Given the description of an element on the screen output the (x, y) to click on. 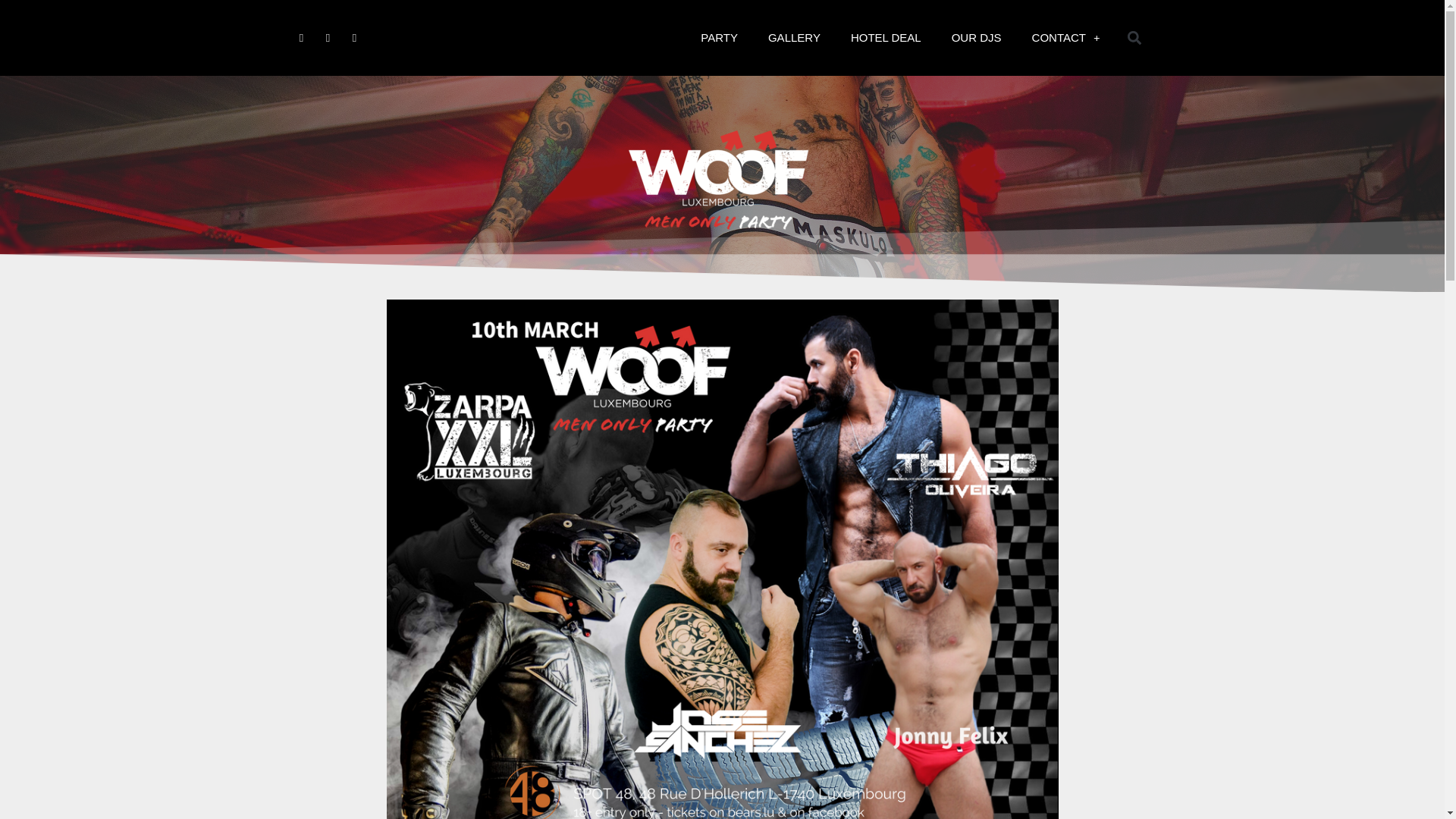
OUR DJS (976, 38)
GALLERY (793, 38)
CONTACT (1065, 38)
HOTEL DEAL (885, 38)
PARTY (718, 38)
